Given the description of an element on the screen output the (x, y) to click on. 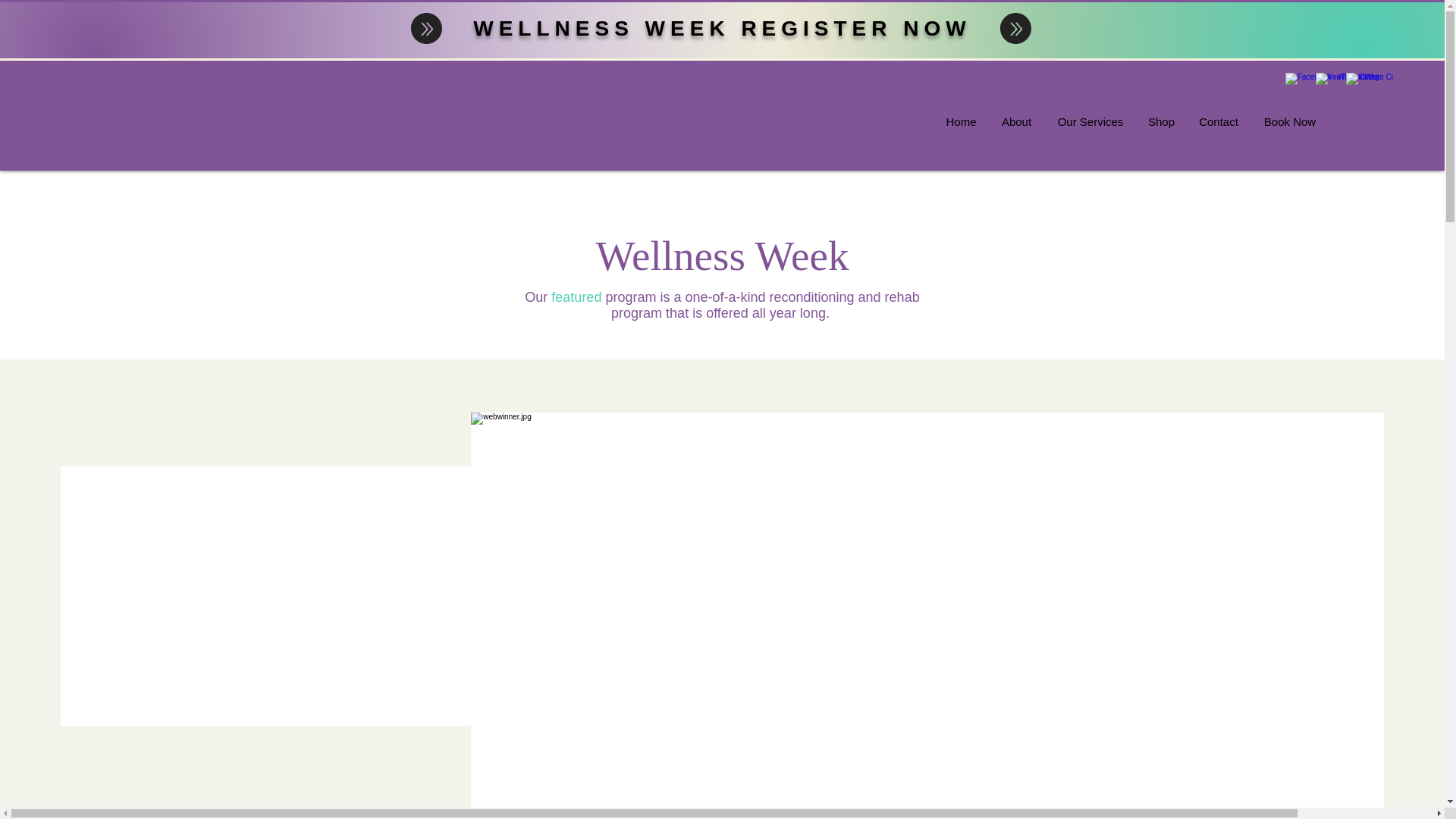
Contact (1218, 121)
Home (961, 121)
WELLNESS WEEK REGISTER NOW (722, 28)
Log In (1221, 83)
About (1016, 121)
Shop (1160, 121)
Book Now (1289, 121)
